Given the description of an element on the screen output the (x, y) to click on. 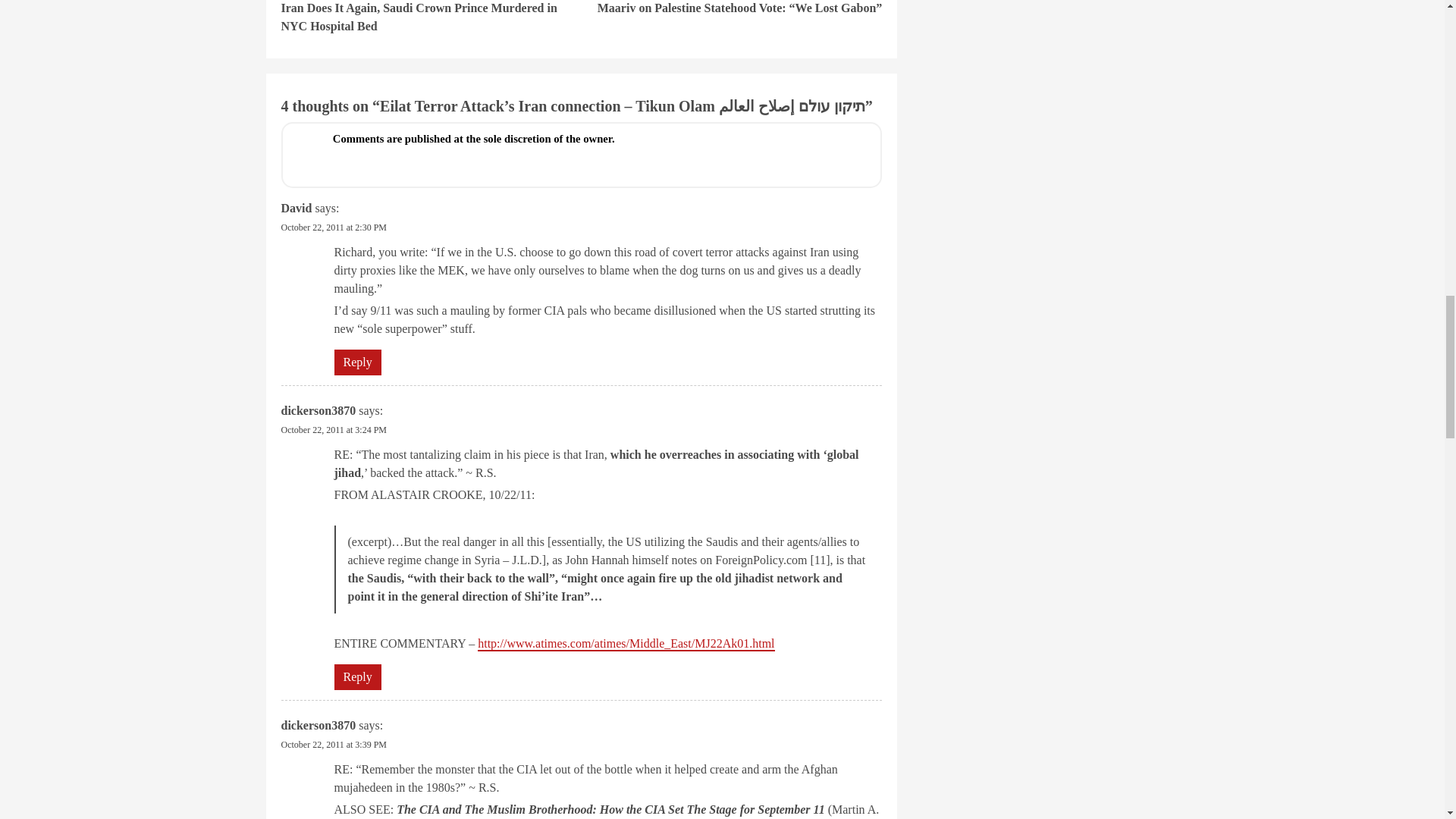
October 22, 2011 at 3:39 PM (334, 743)
Reply (356, 361)
Reply (356, 677)
October 22, 2011 at 2:30 PM (334, 226)
October 22, 2011 at 3:24 PM (334, 429)
